Given the description of an element on the screen output the (x, y) to click on. 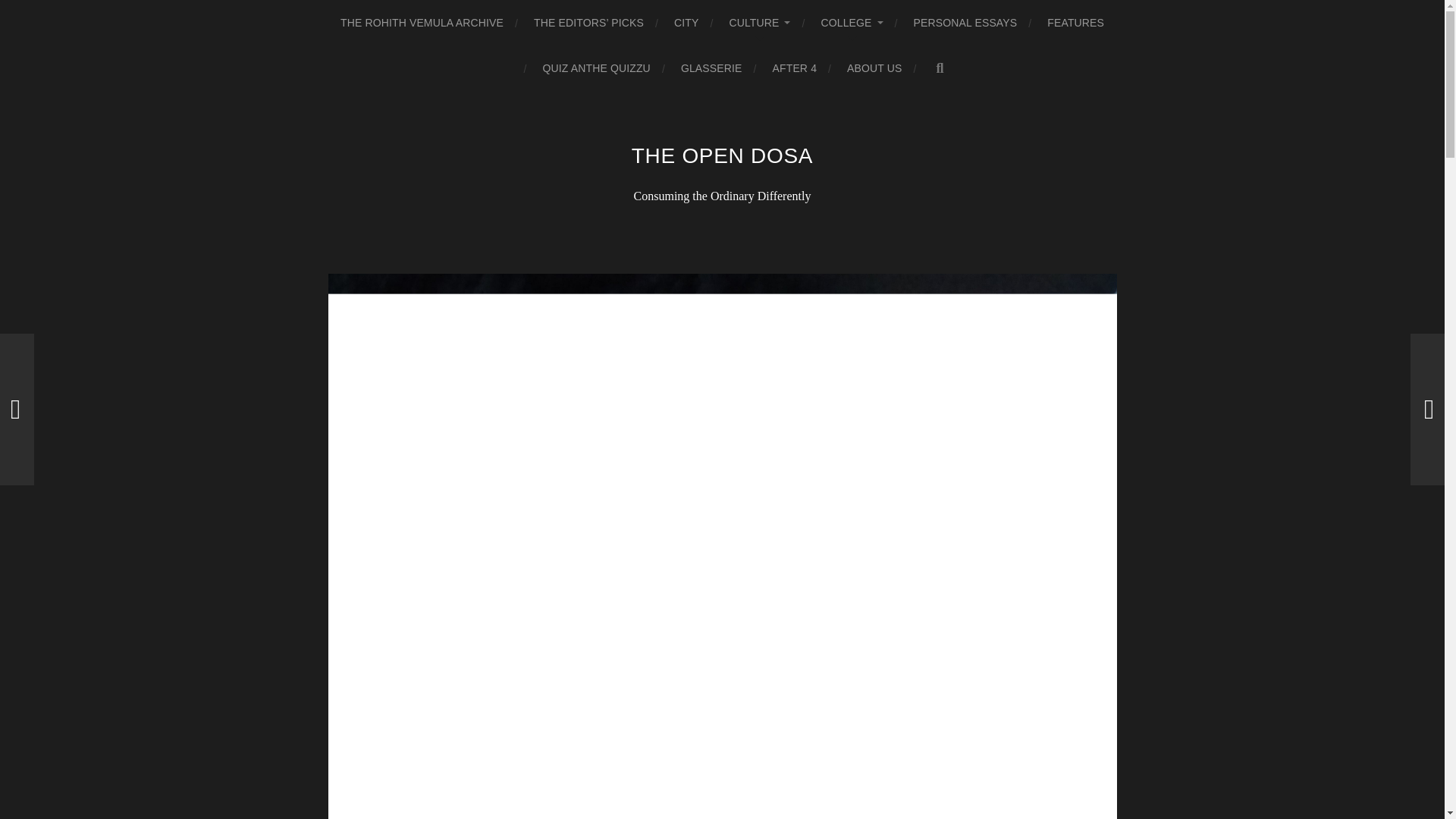
ABOUT US (874, 67)
CULTURE (759, 22)
QUIZ ANTHE QUIZZU (595, 67)
AFTER 4 (794, 67)
THE ROHITH VEMULA ARCHIVE (421, 22)
FEATURES (1074, 22)
THE OPEN DOSA (721, 155)
GLASSERIE (711, 67)
PERSONAL ESSAYS (965, 22)
COLLEGE (851, 22)
